Given the description of an element on the screen output the (x, y) to click on. 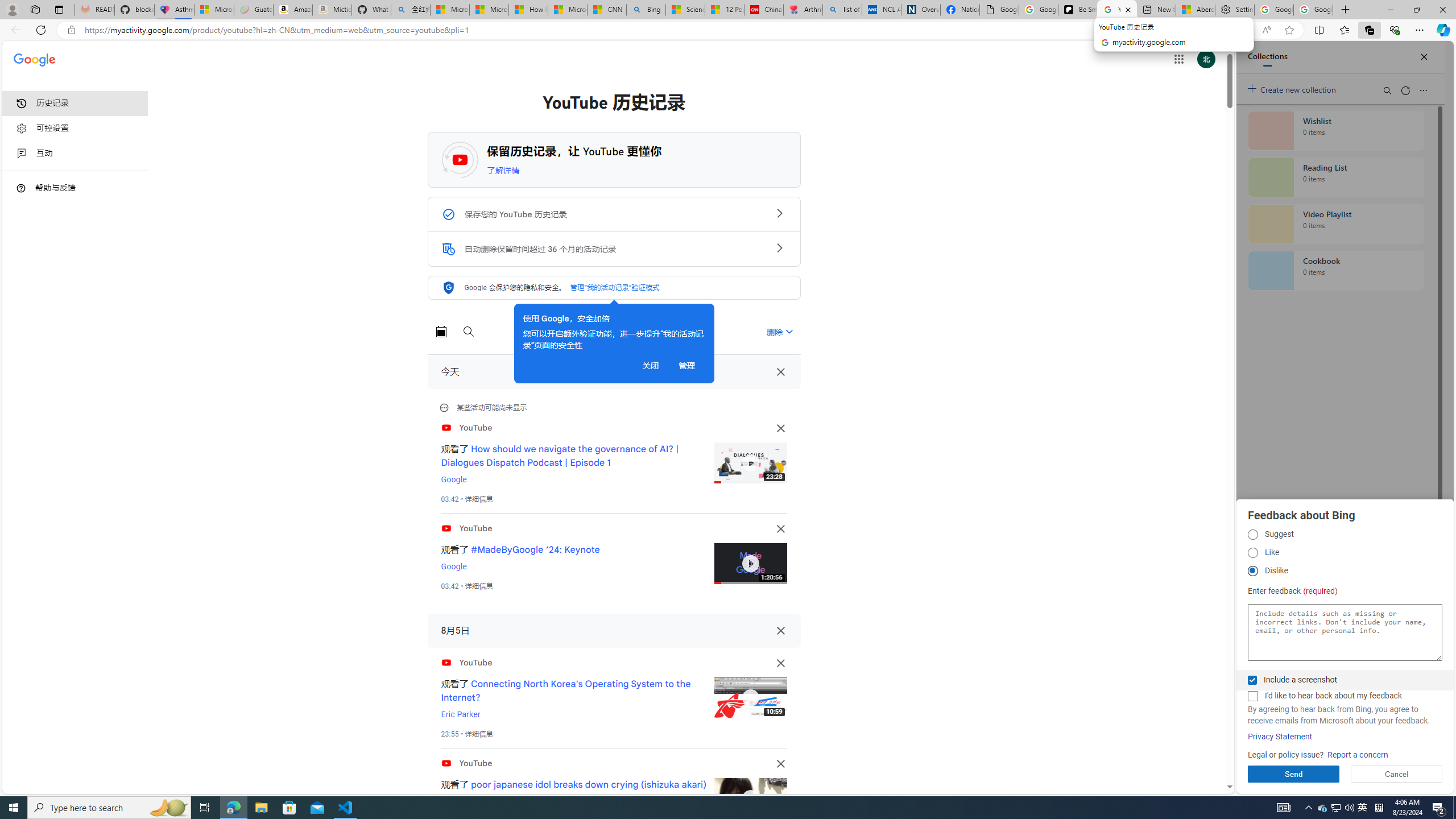
Class: DI7Mnf NMm5M (780, 630)
Suggest Suggest (1252, 534)
Class: gb_E (1178, 59)
